Given the description of an element on the screen output the (x, y) to click on. 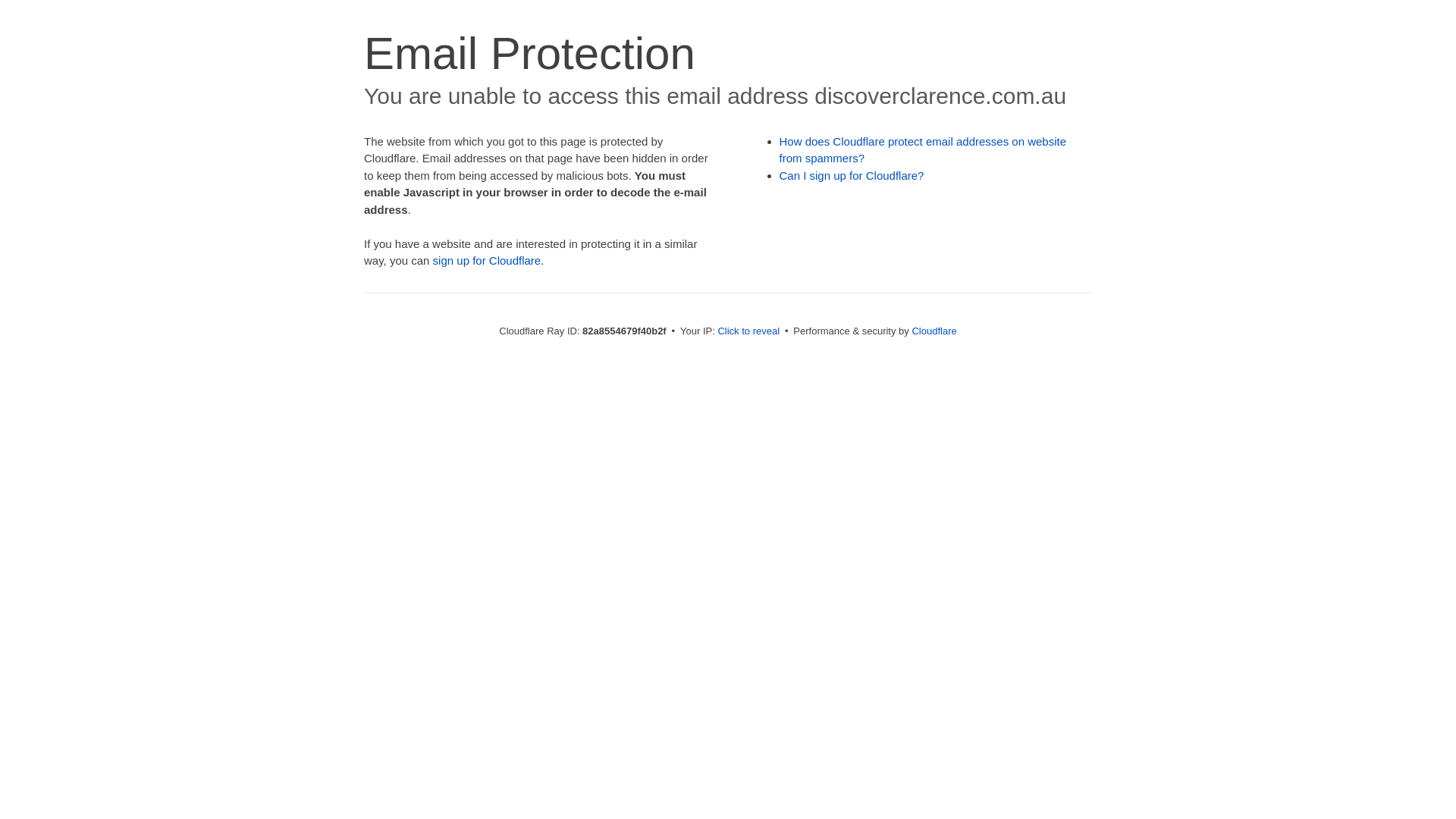
Can I sign up for Cloudflare? Element type: text (851, 175)
sign up for Cloudflare Element type: text (487, 260)
Click to reveal Element type: text (748, 330)
Cloudflare Element type: text (933, 330)
